Given the description of an element on the screen output the (x, y) to click on. 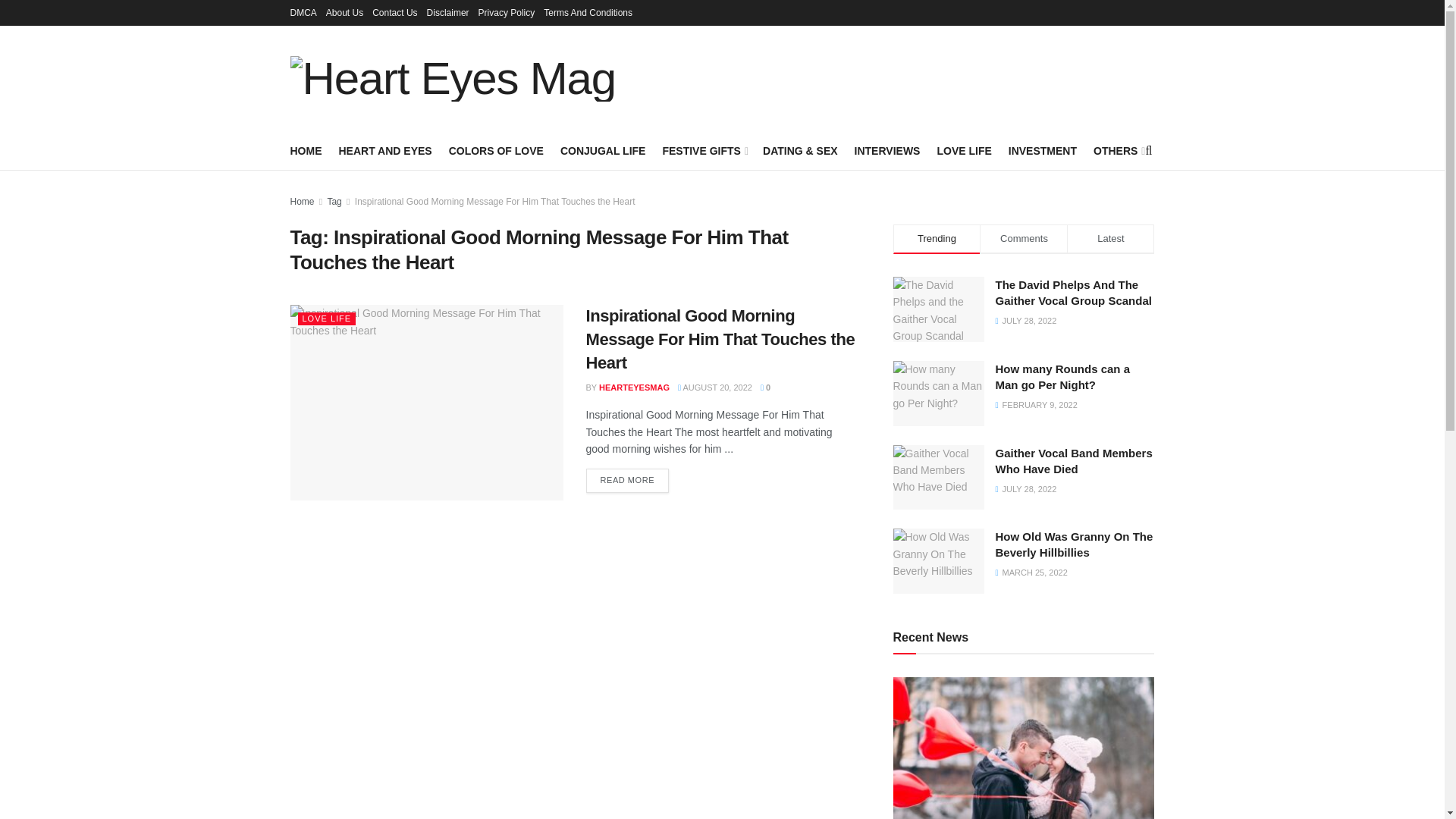
Disclaimer (447, 12)
LOVE LIFE (963, 150)
Privacy Policy (507, 12)
INTERVIEWS (887, 150)
About Us (344, 12)
Contact Us (394, 12)
COLORS OF LOVE (495, 150)
OTHERS (1117, 150)
CONJUGAL LIFE (603, 150)
HOME (305, 150)
DMCA (302, 12)
INVESTMENT (1043, 150)
HEART AND EYES (383, 150)
FESTIVE GIFTS (703, 150)
Terms And Conditions (587, 12)
